Given the description of an element on the screen output the (x, y) to click on. 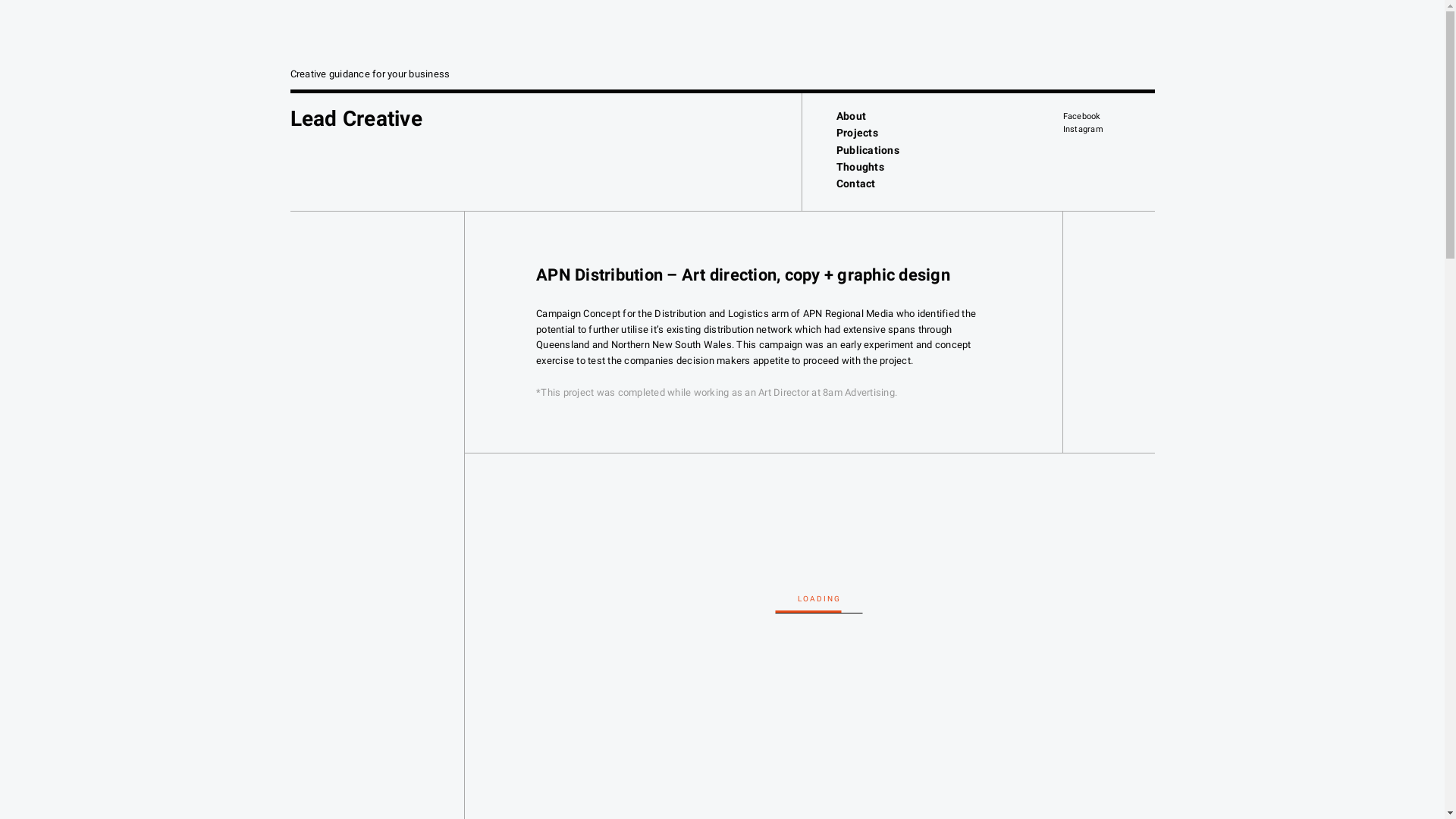
Thoughts Element type: text (860, 166)
Contact Element type: text (855, 183)
Lead Creative Element type: text (355, 118)
About Element type: text (851, 115)
Publications Element type: text (867, 150)
Facebook Element type: text (1082, 116)
Instagram Element type: text (1083, 129)
Projects Element type: text (857, 132)
